Given the description of an element on the screen output the (x, y) to click on. 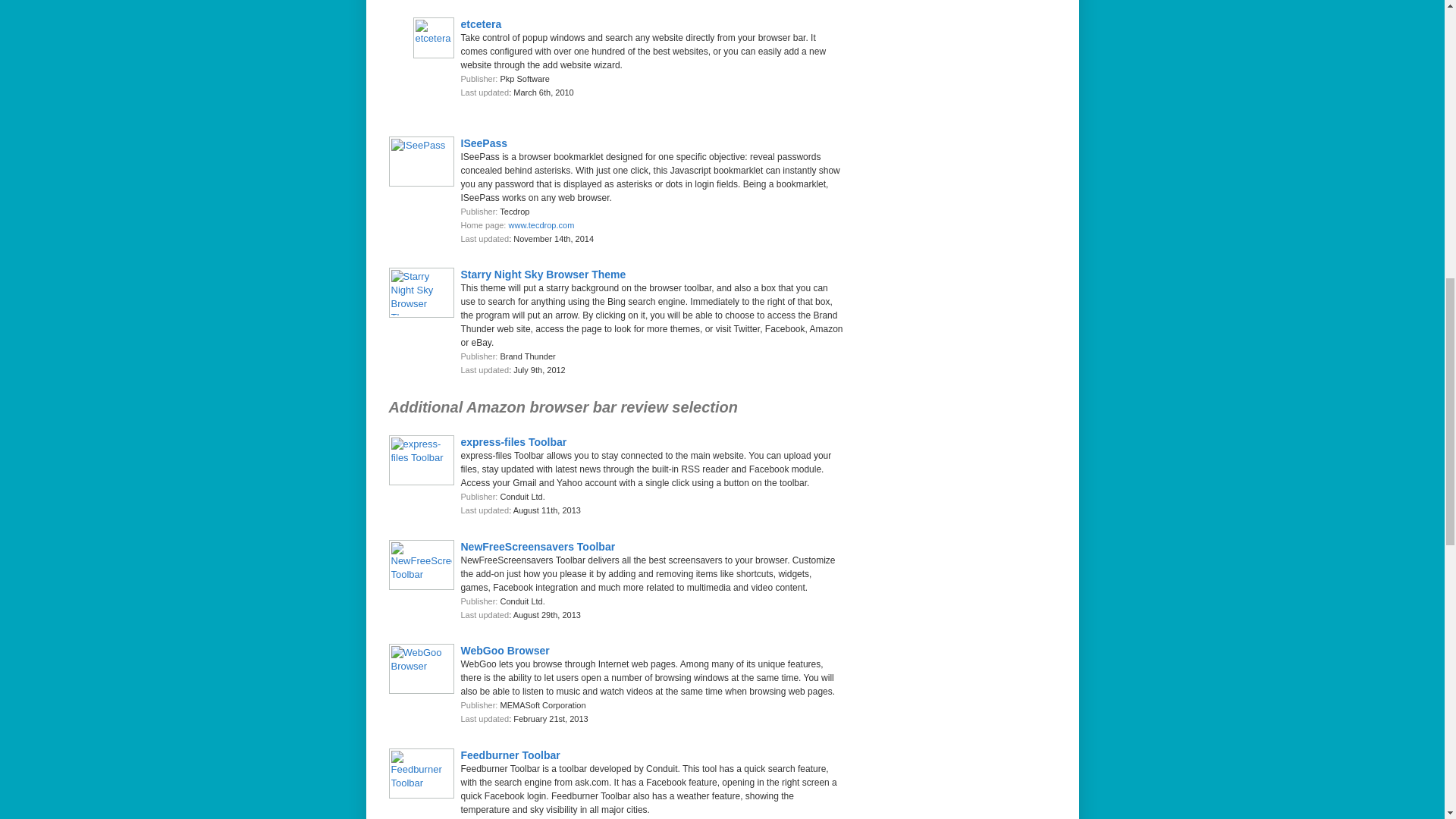
www.tecdrop.com (540, 224)
ISeePass (484, 142)
Starry Night Sky Browser Theme (543, 274)
express-files Toolbar (514, 441)
etcetera (481, 24)
